Given the description of an element on the screen output the (x, y) to click on. 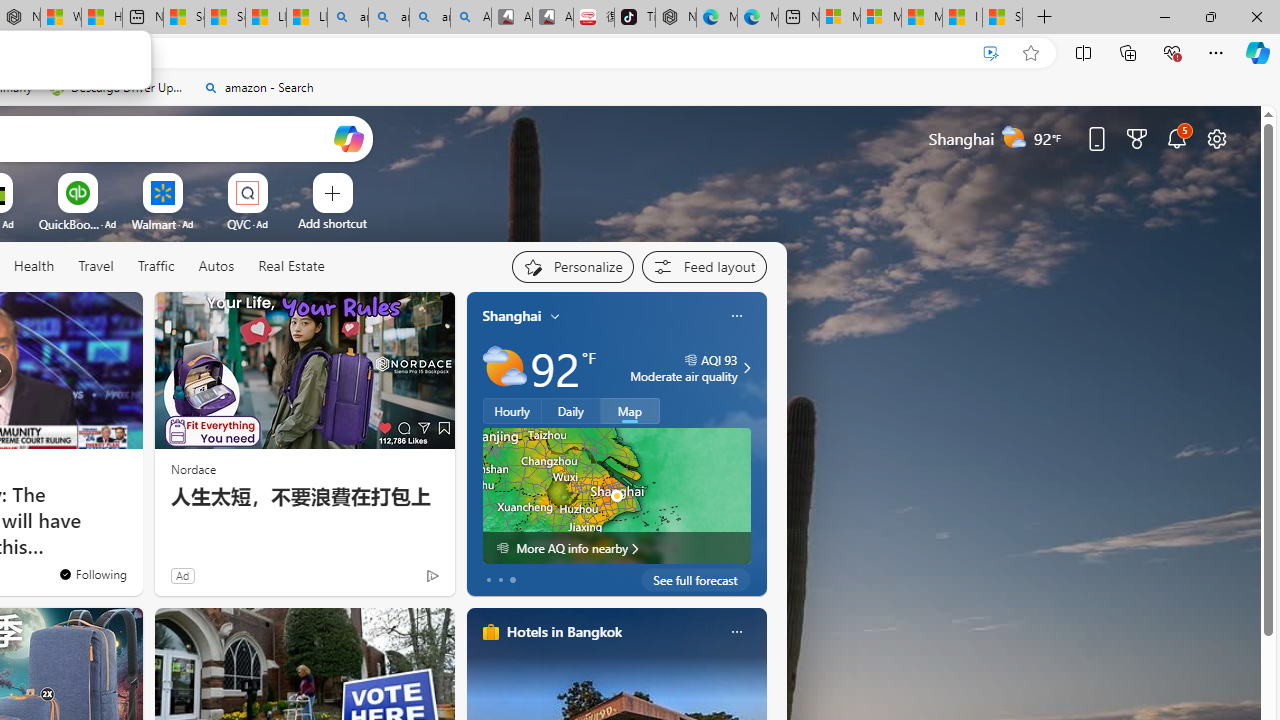
Collections (1128, 52)
TikTok (634, 17)
Larger map  (616, 495)
tab-1 (500, 579)
Class: icon-img (736, 632)
More options (736, 631)
Nordace (193, 468)
More AQ info nearby (616, 547)
New tab (799, 17)
Browser essentials (1171, 52)
